Given the description of an element on the screen output the (x, y) to click on. 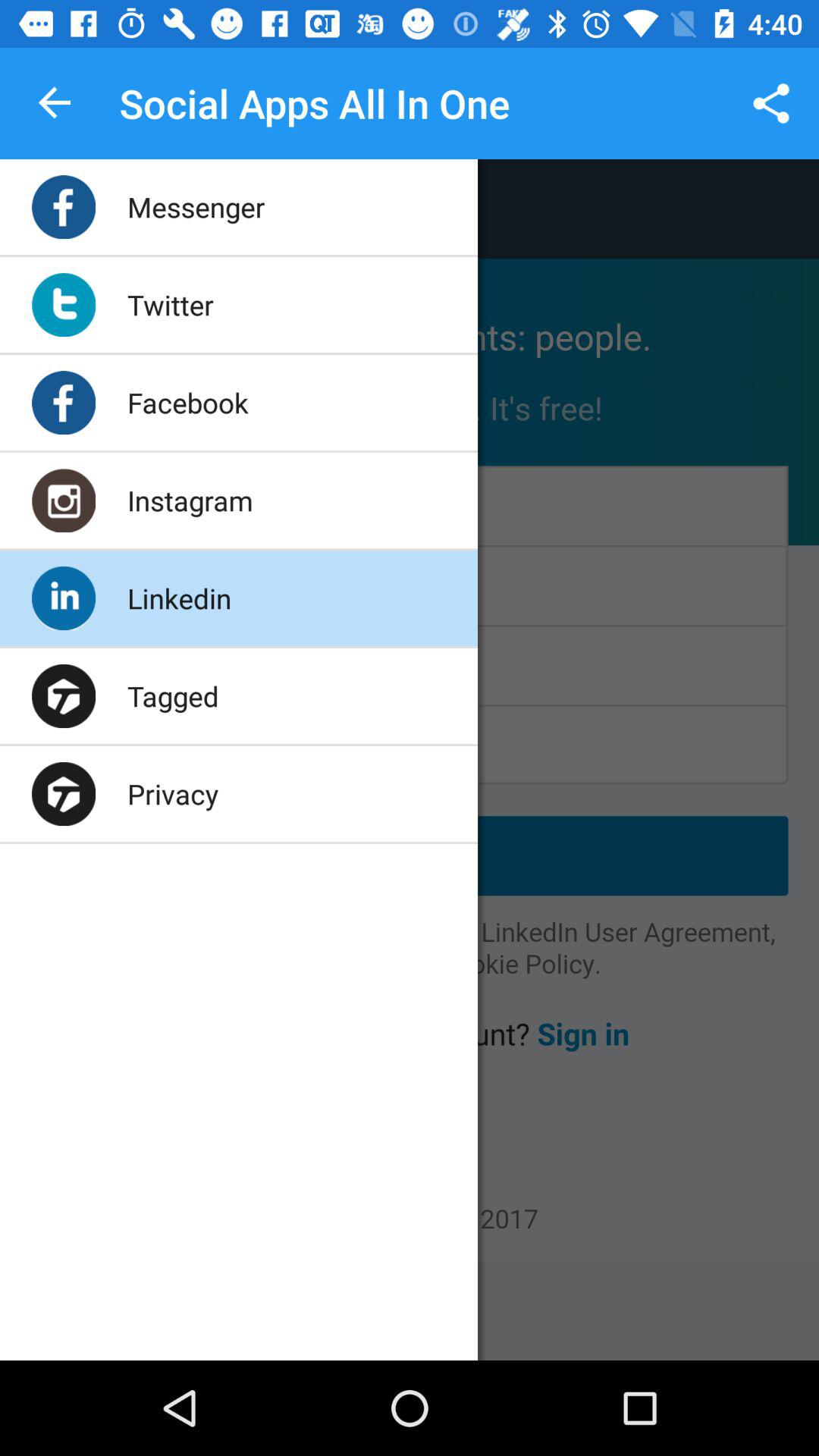
click the messenger item (196, 206)
